Given the description of an element on the screen output the (x, y) to click on. 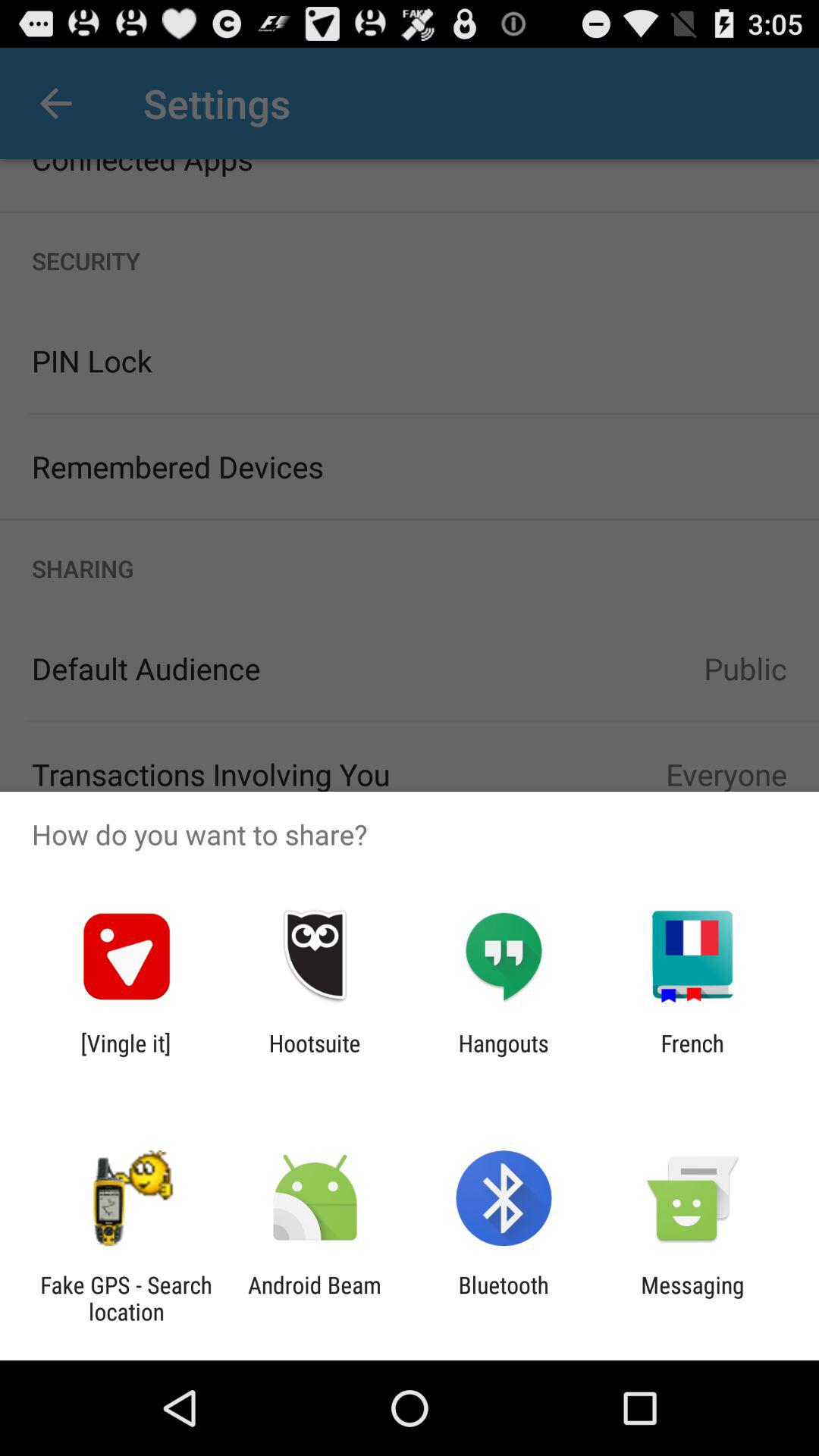
press the [vingle it] app (125, 1056)
